Given the description of an element on the screen output the (x, y) to click on. 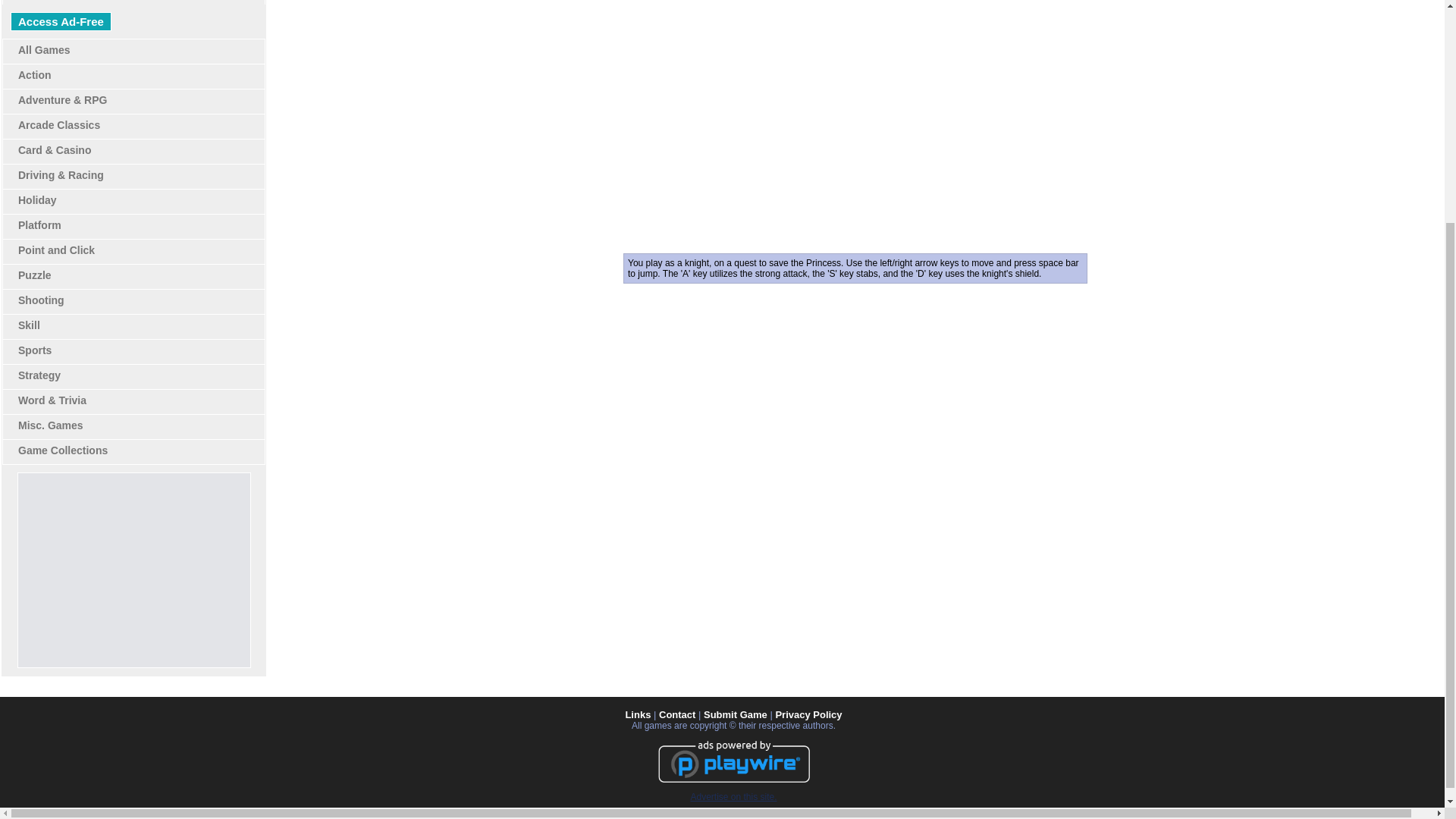
Misc. Games (49, 425)
Platform (39, 224)
Game Collections (62, 450)
Shooting (40, 300)
Strategy (39, 375)
Access Ad-Free (61, 21)
Action (33, 74)
Puzzle (33, 275)
Skill (28, 325)
Point and Click (55, 250)
